Given the description of an element on the screen output the (x, y) to click on. 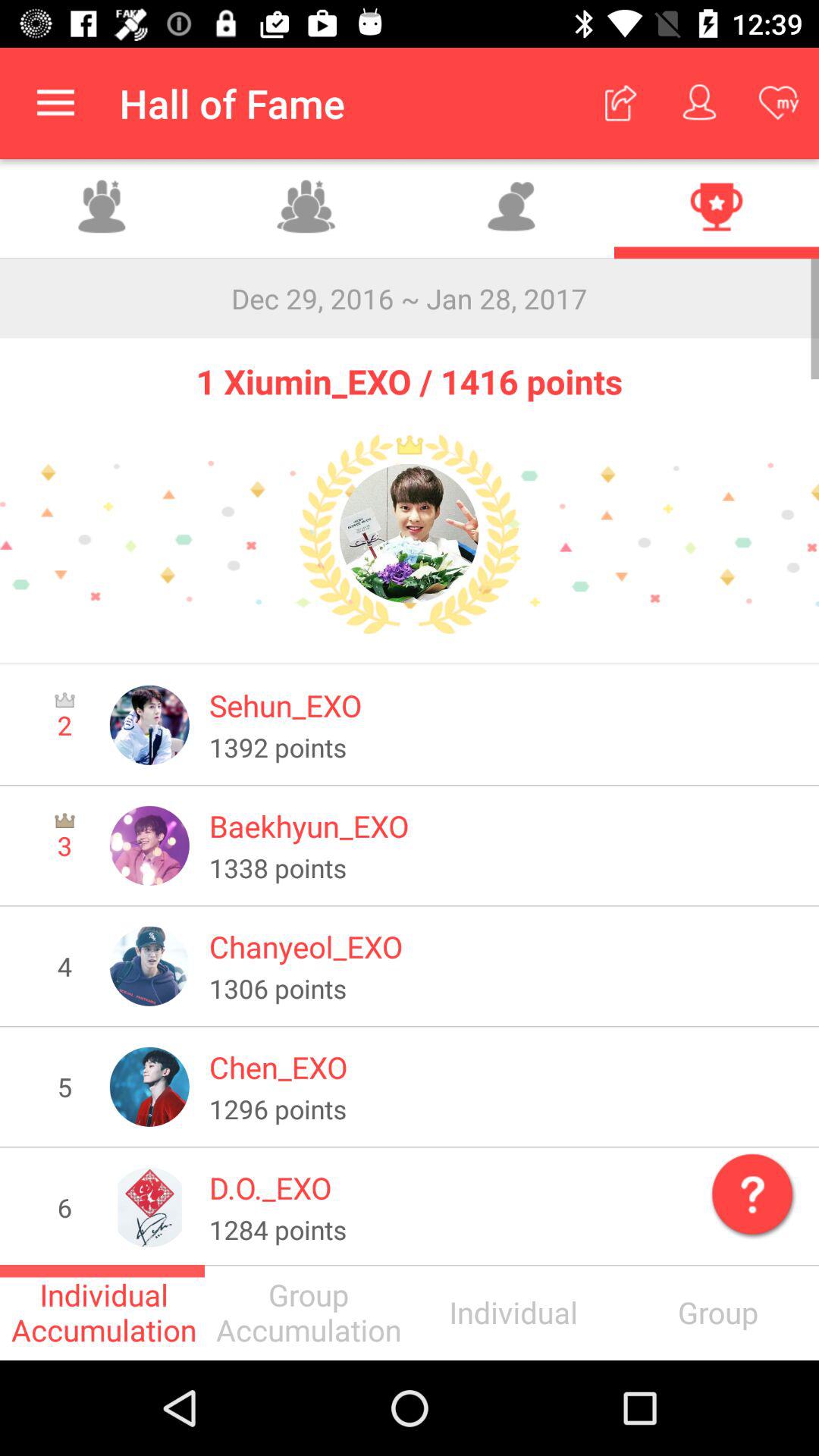
view help (749, 1191)
